Given the description of an element on the screen output the (x, y) to click on. 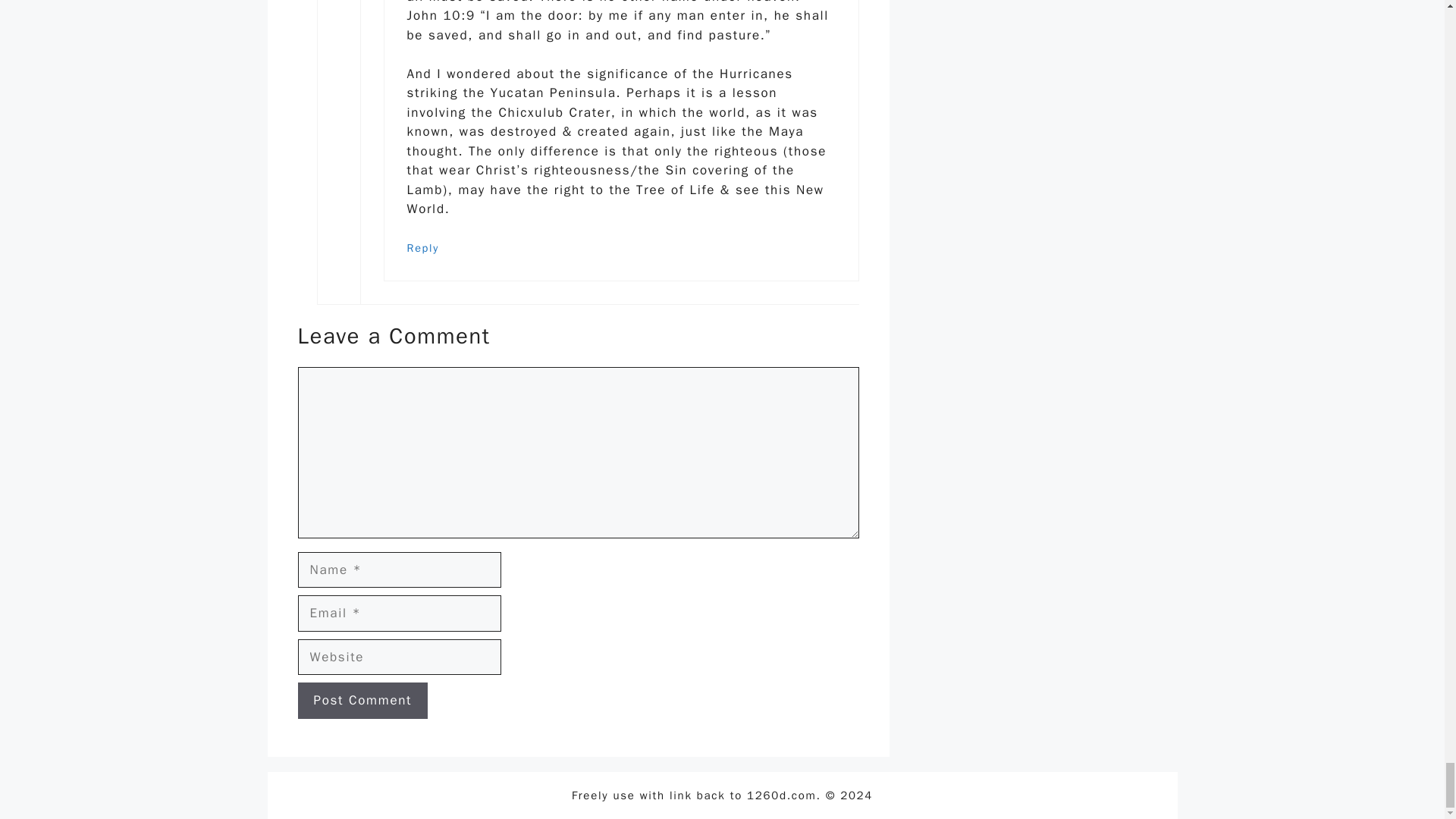
Post Comment (362, 700)
